Given the description of an element on the screen output the (x, y) to click on. 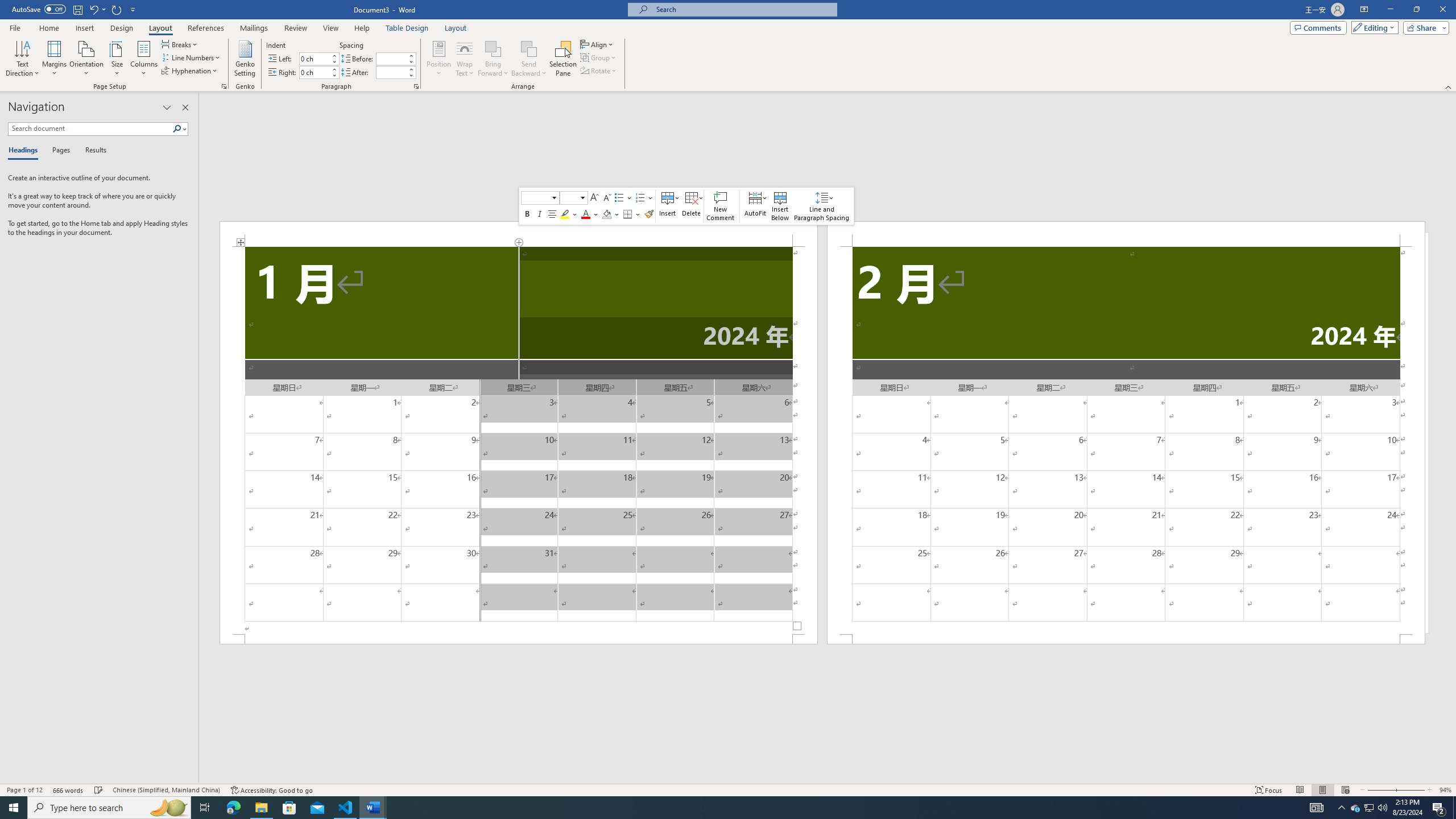
Bring Forward (492, 58)
Position (438, 58)
Send Backward (528, 48)
Send Backward (528, 58)
Genko Setting... (244, 58)
Spacing After (391, 72)
Group (599, 56)
Orientation (86, 58)
